Given the description of an element on the screen output the (x, y) to click on. 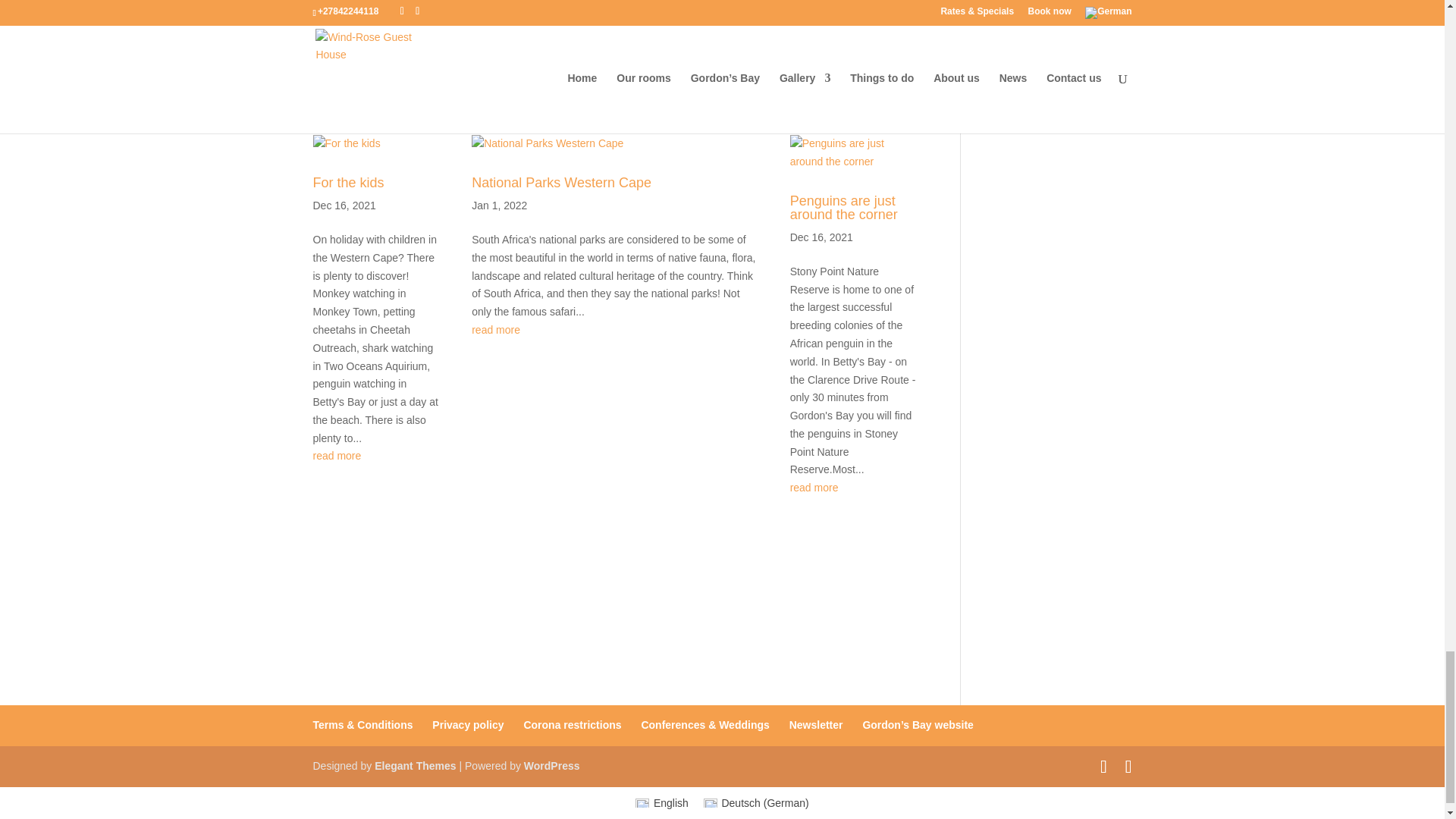
Premium WordPress Themes (414, 766)
